Given the description of an element on the screen output the (x, y) to click on. 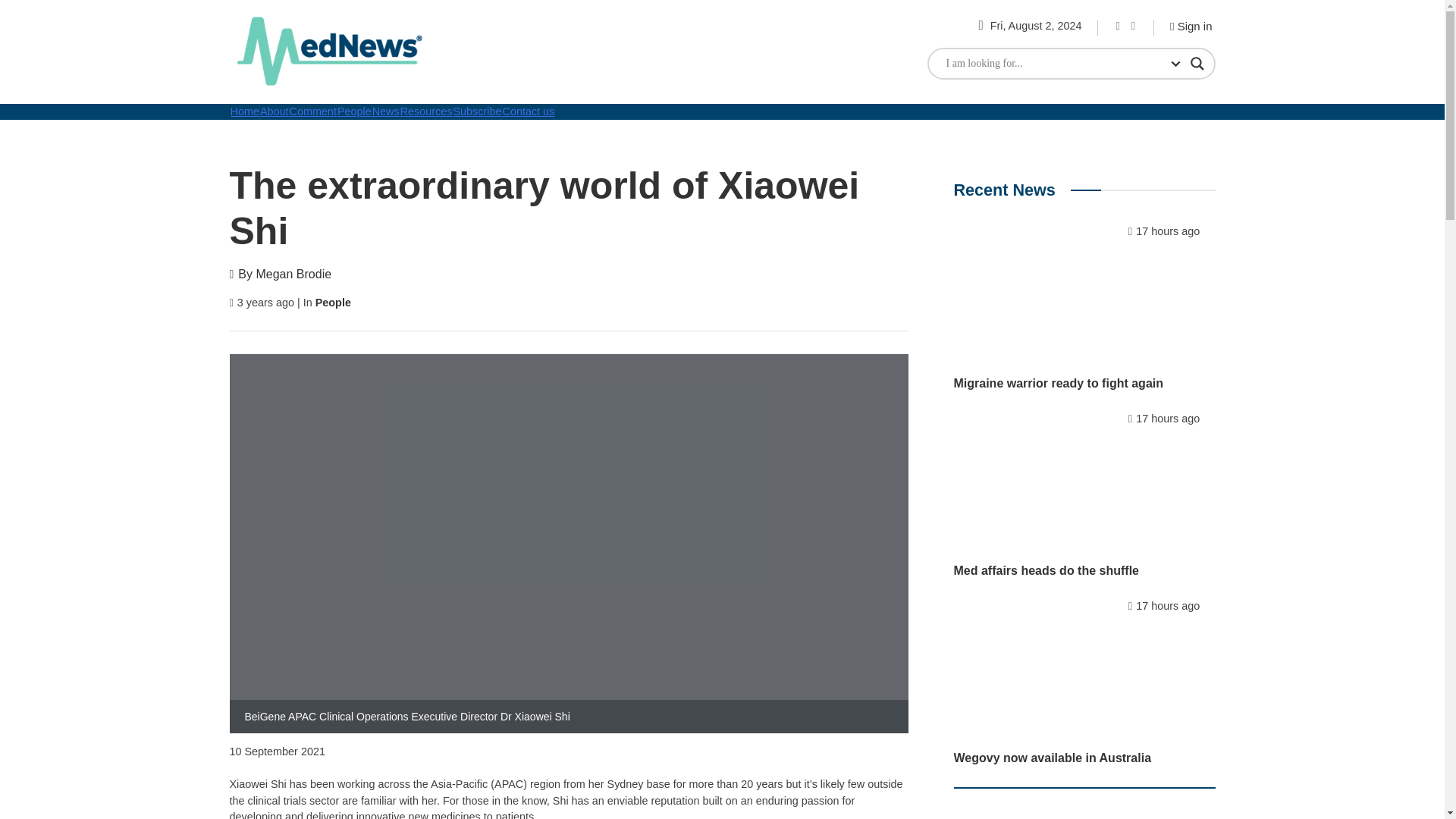
Home (243, 111)
Subscribe (477, 111)
Wegovy now available in Australia (1052, 757)
Comment (313, 111)
Contact us (528, 111)
People (332, 302)
About (274, 111)
Resources (426, 111)
News (386, 111)
People (354, 111)
